Given the description of an element on the screen output the (x, y) to click on. 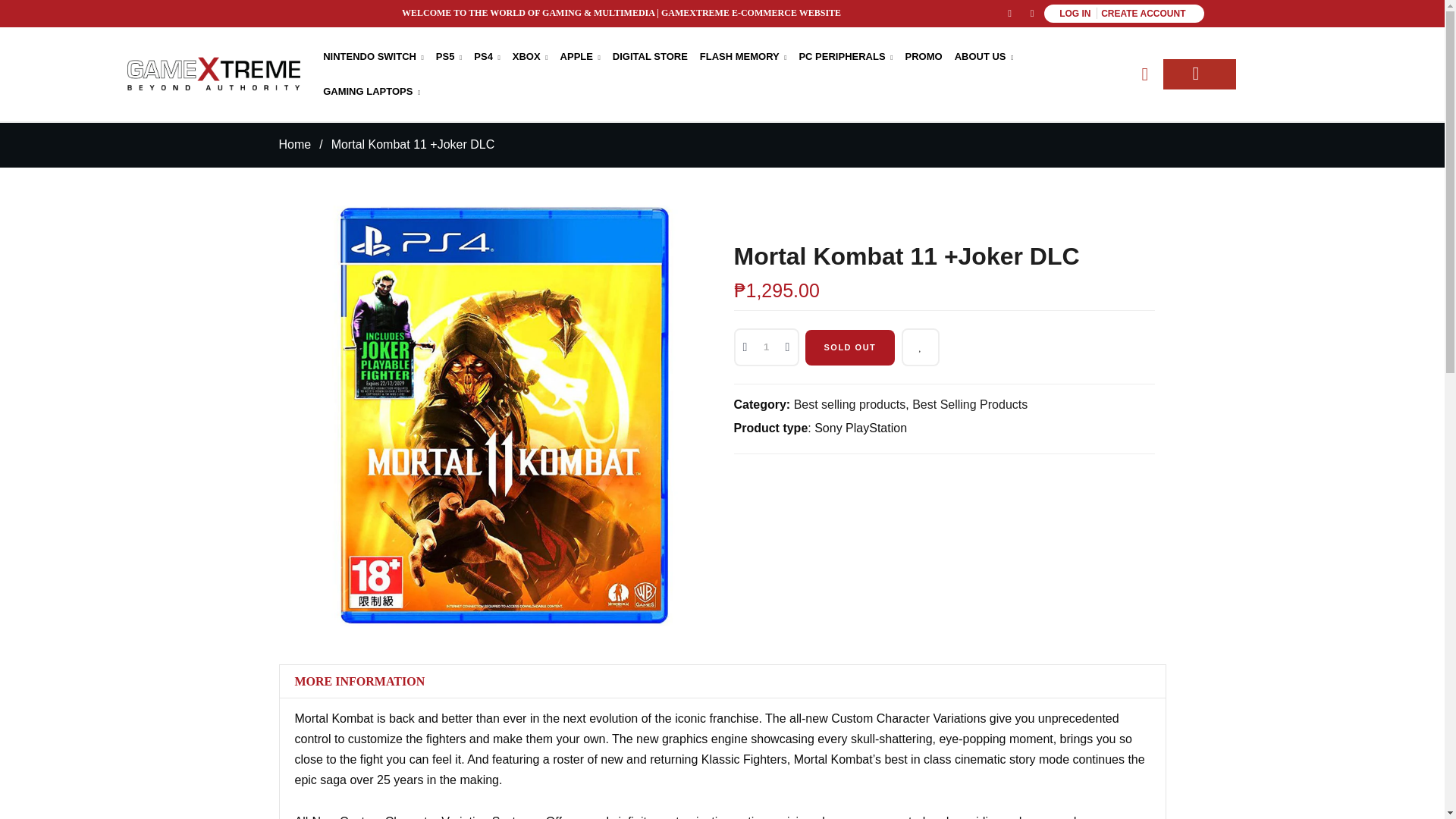
XBOX (529, 56)
PS4 (486, 56)
Wishlist (920, 347)
LOG IN (1074, 13)
APPLE (579, 56)
DIGITAL STORE (650, 56)
PS5 (448, 56)
NINTENDO SWITCH (373, 56)
Back to the frontpage (295, 144)
PC PERIPHERALS (845, 56)
CREATE ACCOUNT (1142, 13)
FLASH MEMORY (743, 56)
